Given the description of an element on the screen output the (x, y) to click on. 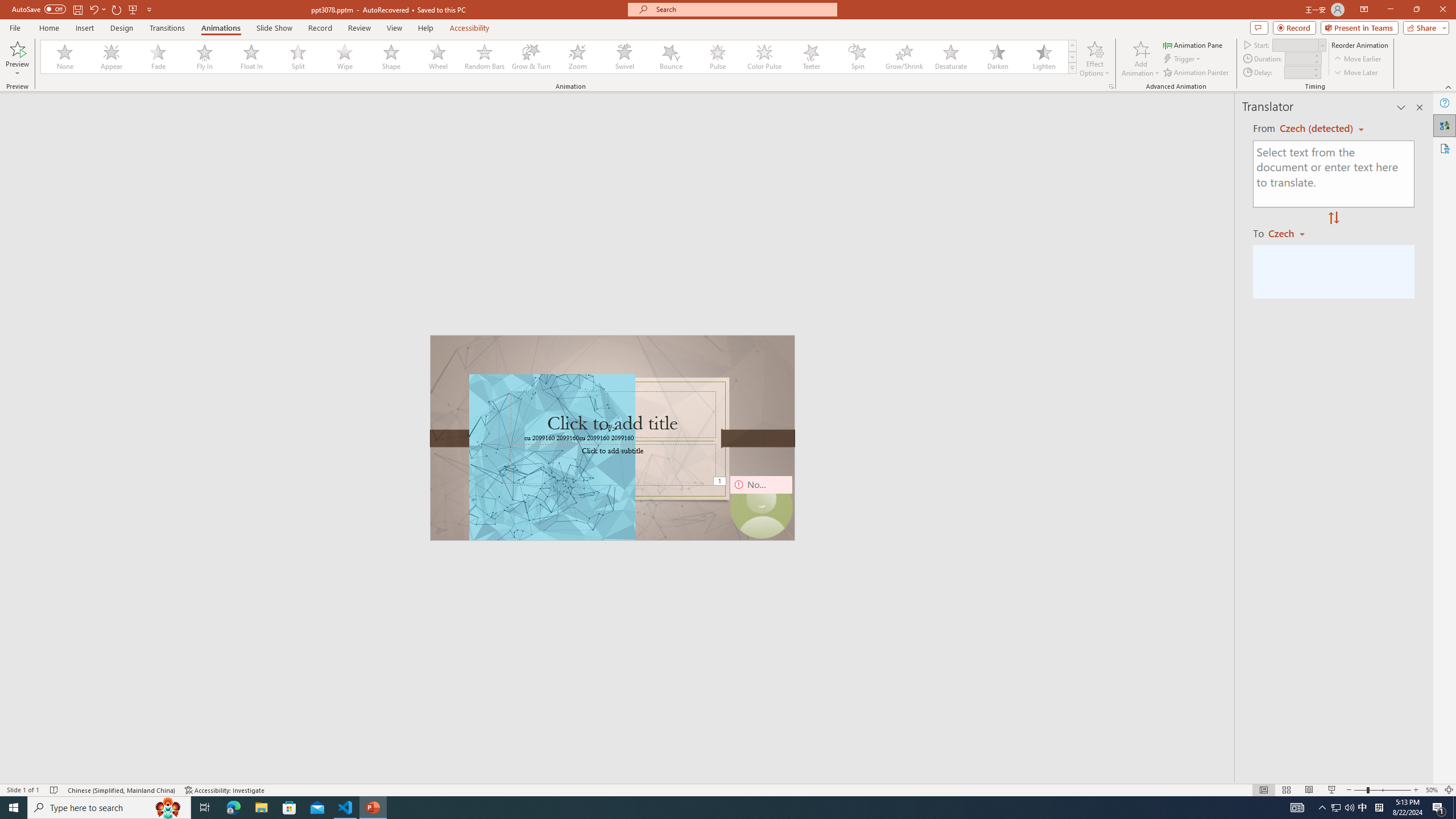
Preview (17, 48)
Trigger (1182, 58)
Microsoft search (742, 9)
Wheel (437, 56)
Animation, sequence 1, on Camera 9 (720, 481)
Random Bars (484, 56)
Accessibility Checker Accessibility: Investigate (224, 790)
Move Later (1355, 72)
Swivel (624, 56)
